Given the description of an element on the screen output the (x, y) to click on. 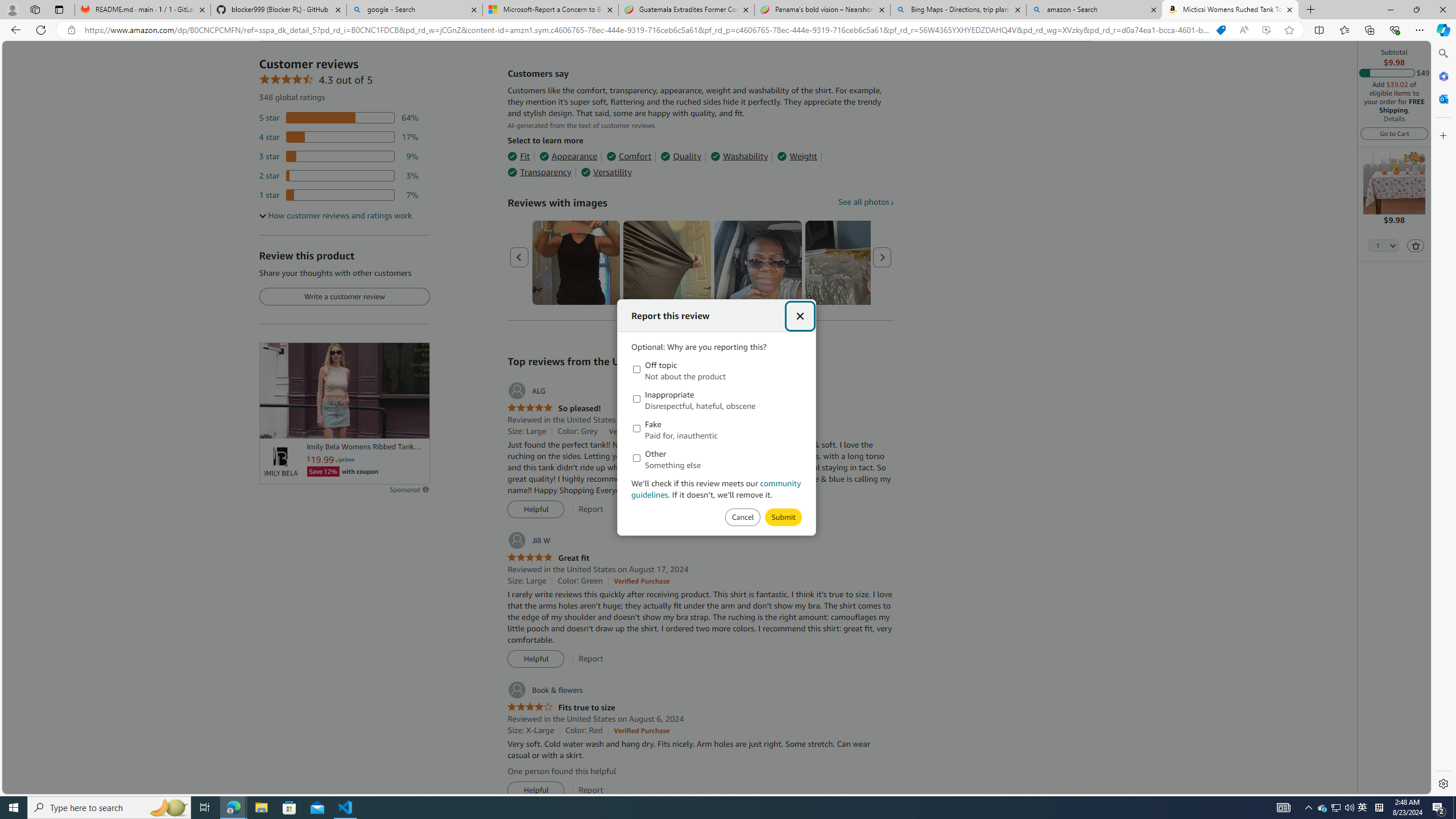
4.0 out of 5 stars Fits true to size (560, 707)
Class: a-carousel-card (757, 262)
17 percent of reviews have 4 stars (339, 137)
Verified Purchase (640, 730)
Logo (280, 461)
Book & flowers (544, 690)
Unmute (414, 424)
Jill W (528, 540)
